Given the description of an element on the screen output the (x, y) to click on. 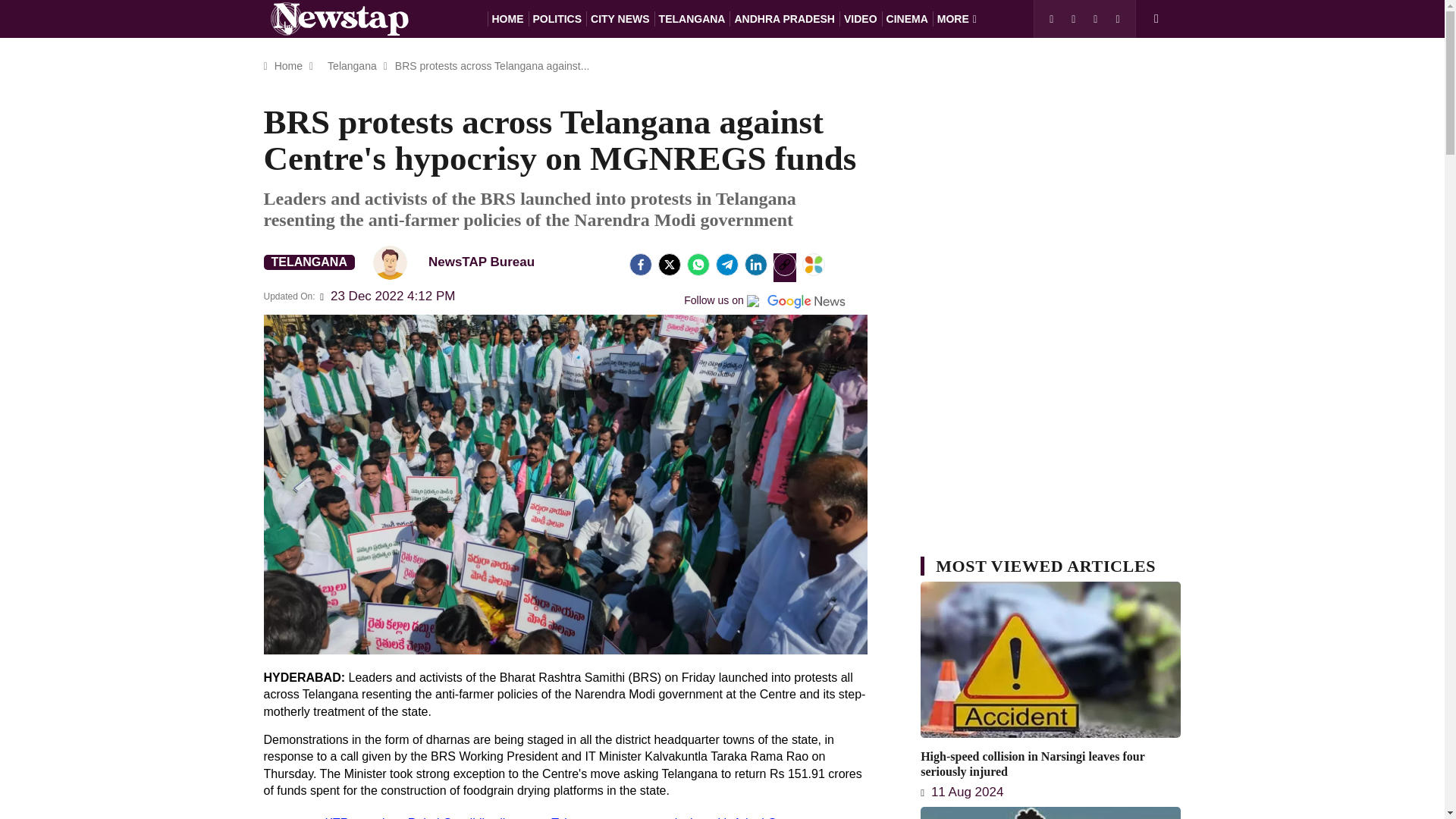
CINEMA (907, 18)
TELANGANA (691, 18)
TELANGANA (309, 262)
Telangana (352, 65)
POLITICS (556, 18)
Home (287, 65)
NewsTAP Bureau (460, 261)
VIDEO (861, 18)
NewsTAP Bureau (389, 262)
